Given the description of an element on the screen output the (x, y) to click on. 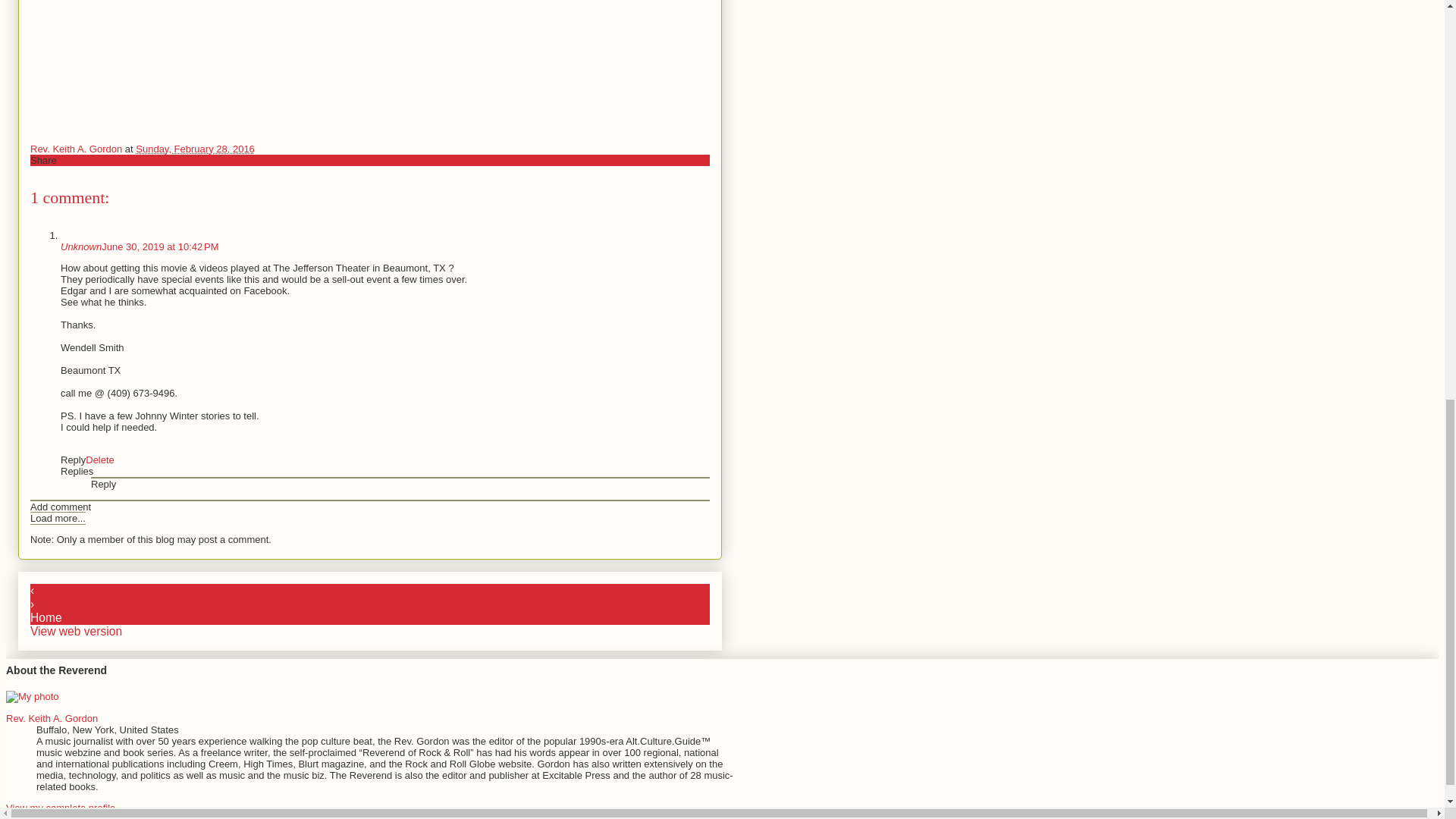
Add comment (60, 506)
Home (46, 617)
Rev. Keith A. Gordon (51, 717)
Load more... (57, 517)
permanent link (194, 148)
Delete (100, 460)
Replies (77, 471)
Share (43, 160)
author profile (77, 148)
Rev. Keith A. Gordon (77, 148)
Reply (73, 460)
Unknown (81, 246)
Sunday, February 28, 2016 (194, 148)
View my complete profile (60, 808)
View web version (76, 631)
